Given the description of an element on the screen output the (x, y) to click on. 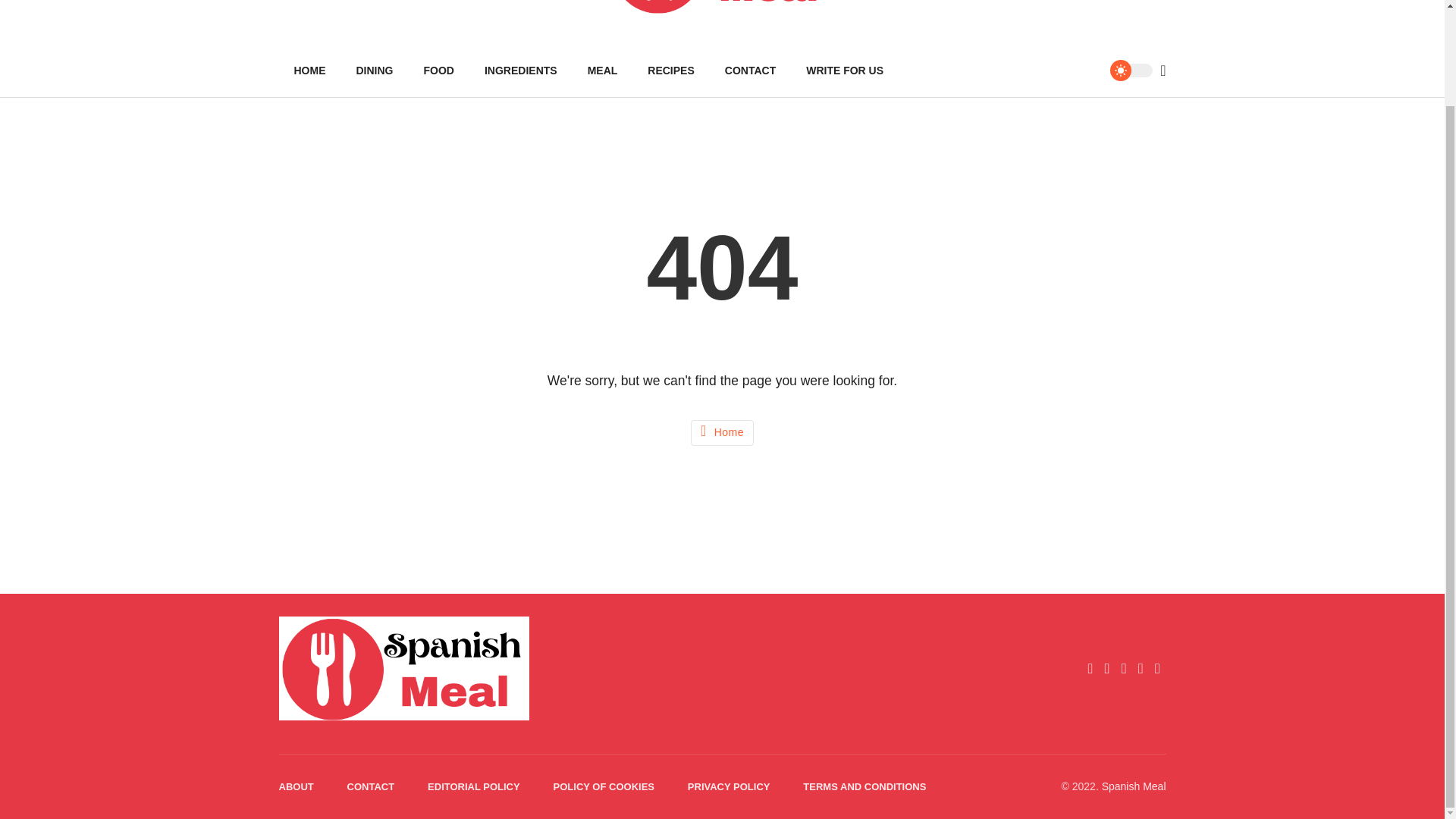
FOOD (437, 70)
HOME (309, 70)
ABOUT (296, 786)
Home (722, 432)
Spanish Meal (1134, 786)
RECIPES (670, 70)
PRIVACY POLICY (728, 786)
WRITE FOR US (844, 70)
POLICY OF COOKIES (603, 786)
EDITORIAL POLICY (473, 786)
